Given the description of an element on the screen output the (x, y) to click on. 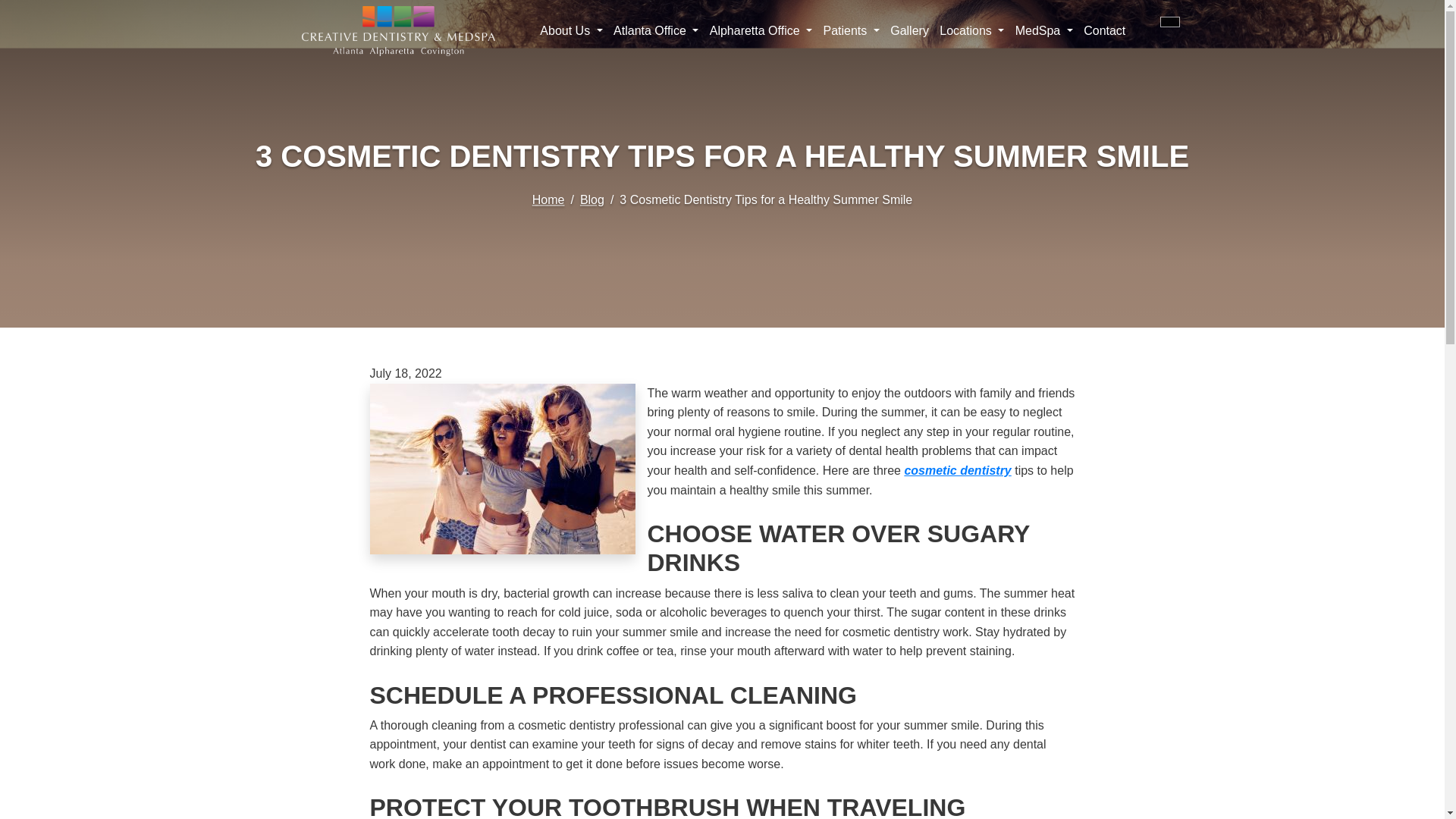
Atlanta Office (656, 30)
Atlanta GA Cosmetic Dentist (957, 470)
summer-beauty (501, 469)
About Us (571, 30)
SKIP TO MAIN CONTENT (21, 6)
Switch to high color contrast version of the website (1169, 21)
